Given the description of an element on the screen output the (x, y) to click on. 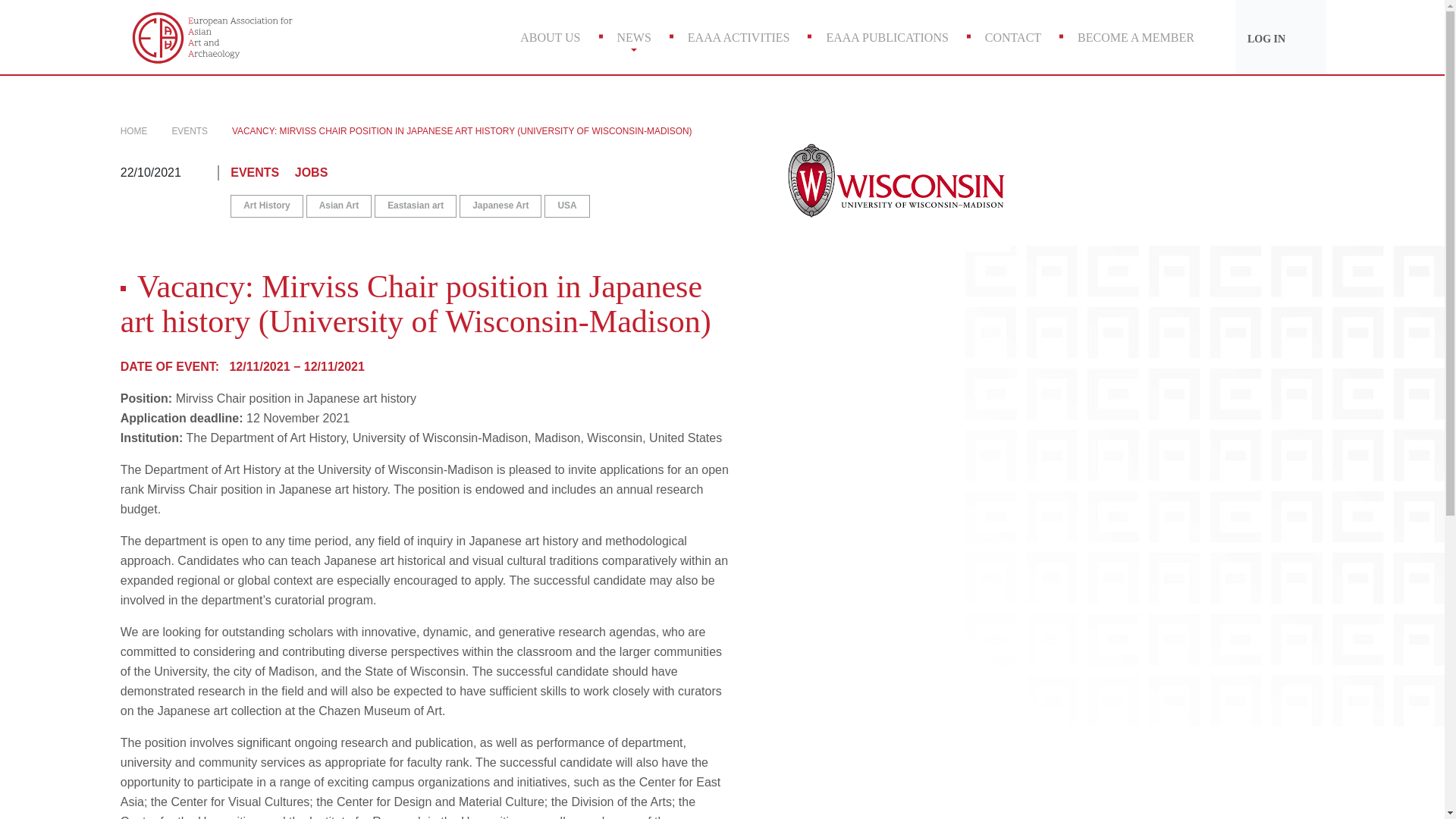
Asian Art (338, 205)
Eastasian art (415, 205)
USA (566, 205)
JOBS (317, 172)
EAAA ACTIVITIES (738, 37)
Japanese Art (500, 205)
EVENTS (260, 172)
HOME (134, 131)
BECOME A MEMBER (1135, 37)
NEWS (633, 37)
